Given the description of an element on the screen output the (x, y) to click on. 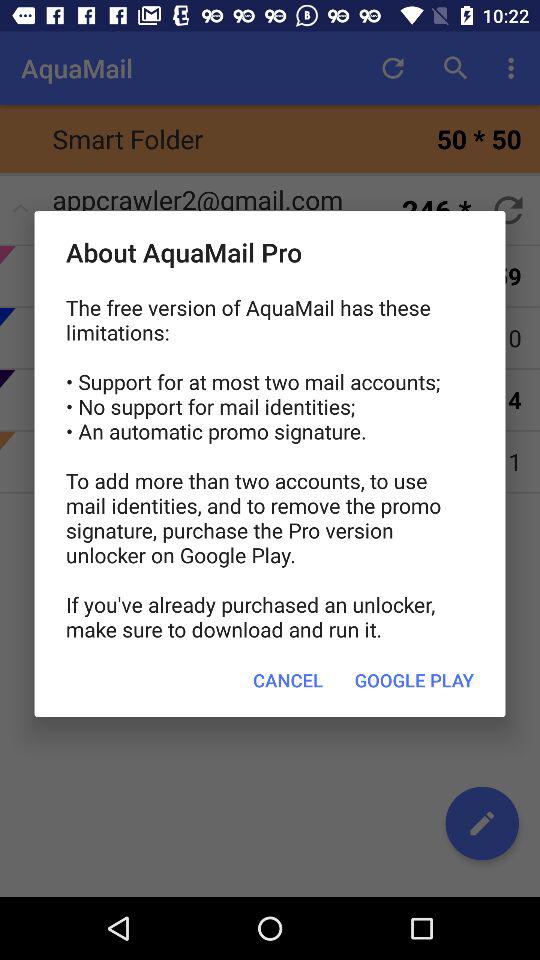
tap the button at the bottom (287, 679)
